Given the description of an element on the screen output the (x, y) to click on. 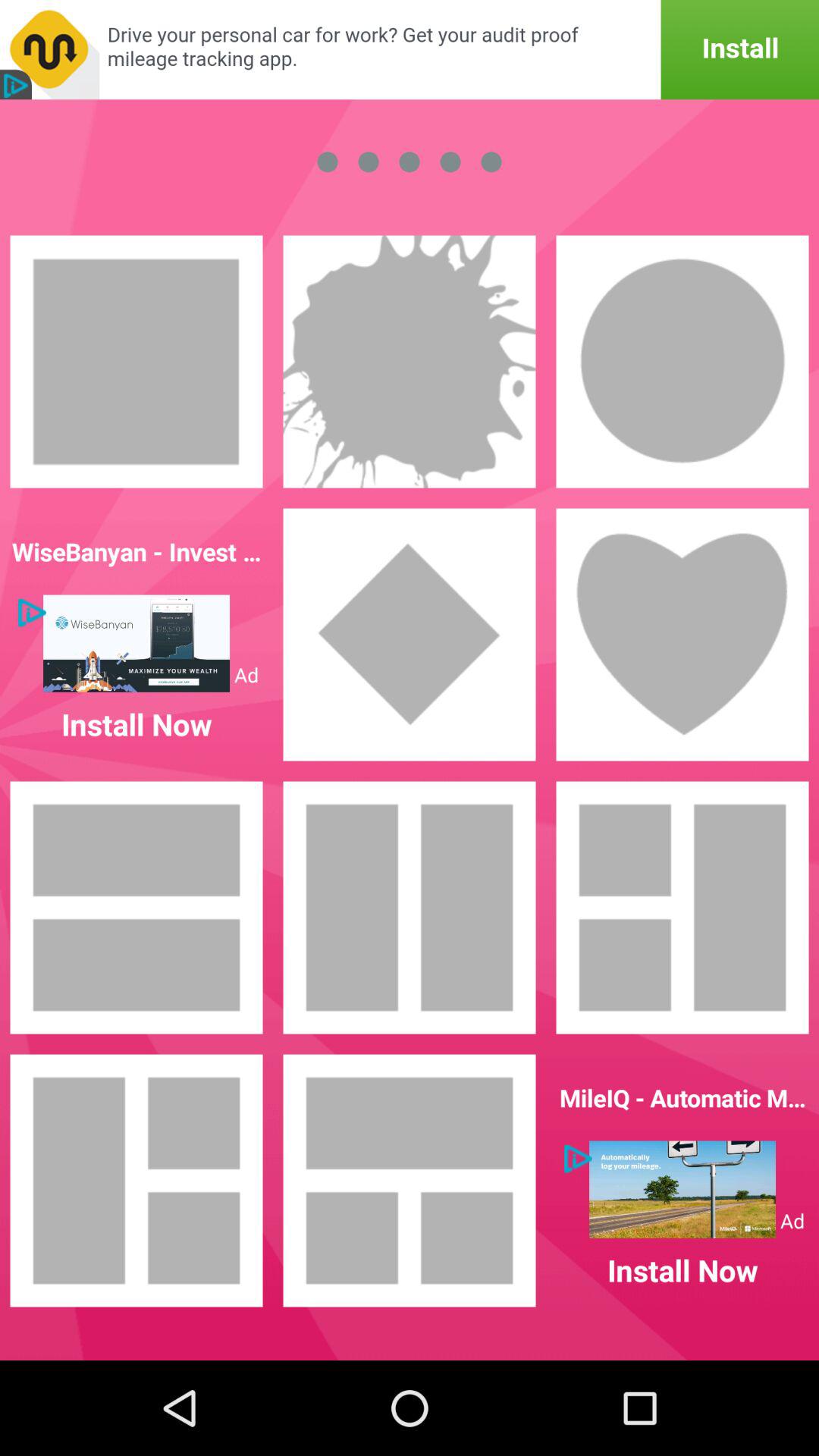
click on advertisement (682, 1189)
